Given the description of an element on the screen output the (x, y) to click on. 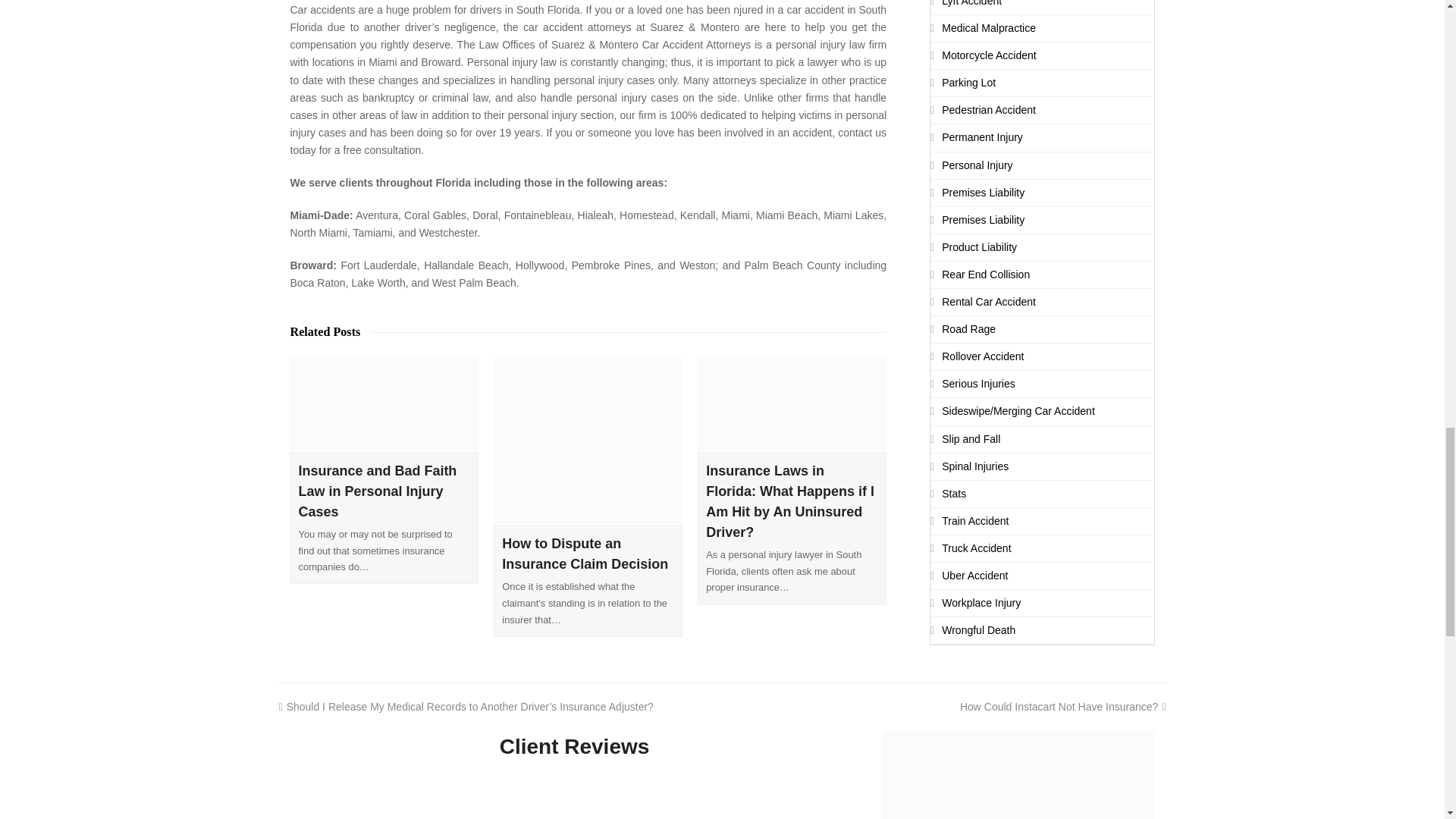
Insurance and Bad Faith Law in Personal Injury Cases (377, 491)
How to Dispute an Insurance Claim Decision (587, 441)
How to Dispute an Insurance Claim Decision (585, 553)
Insurance and Bad Faith Law in Personal Injury Cases (384, 404)
786 Abogado (1017, 775)
